Given the description of an element on the screen output the (x, y) to click on. 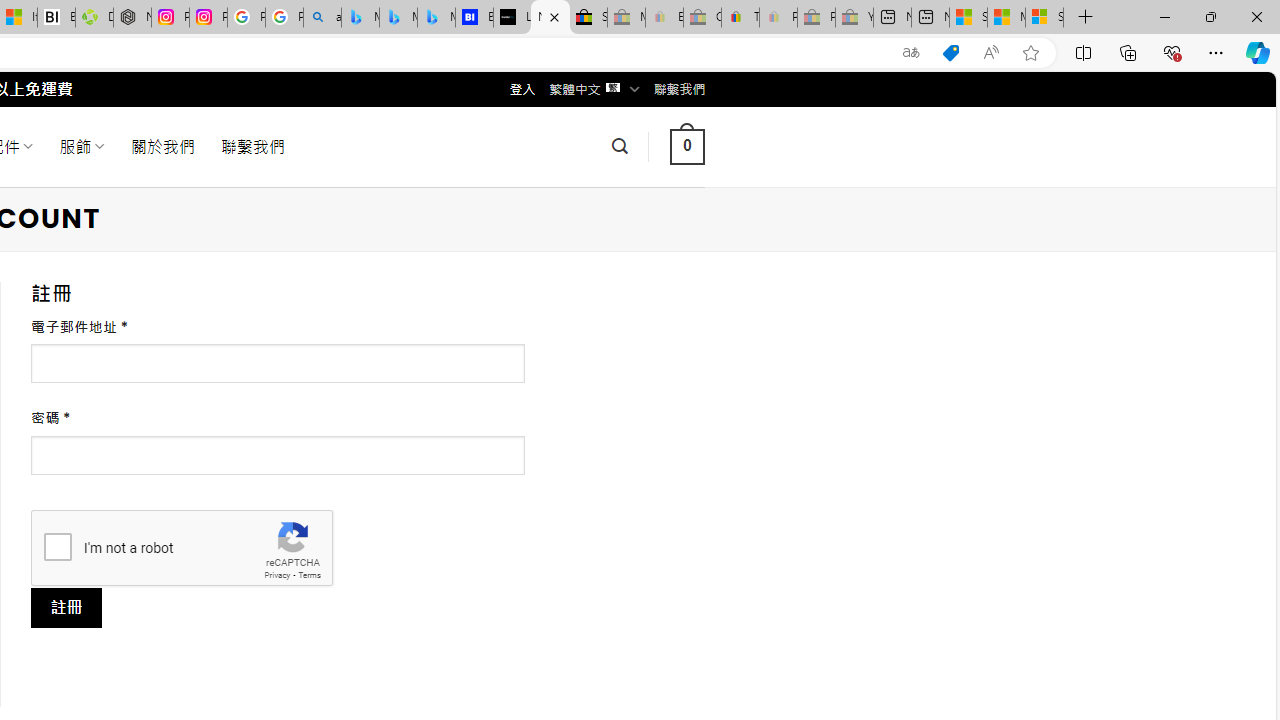
Threats and offensive language policy | eBay (740, 17)
Microsoft Bing Travel - Flights from Hong Kong to Bangkok (359, 17)
Selling on eBay | Electronics, Fashion, Home & Garden | eBay (587, 17)
